Given the description of an element on the screen output the (x, y) to click on. 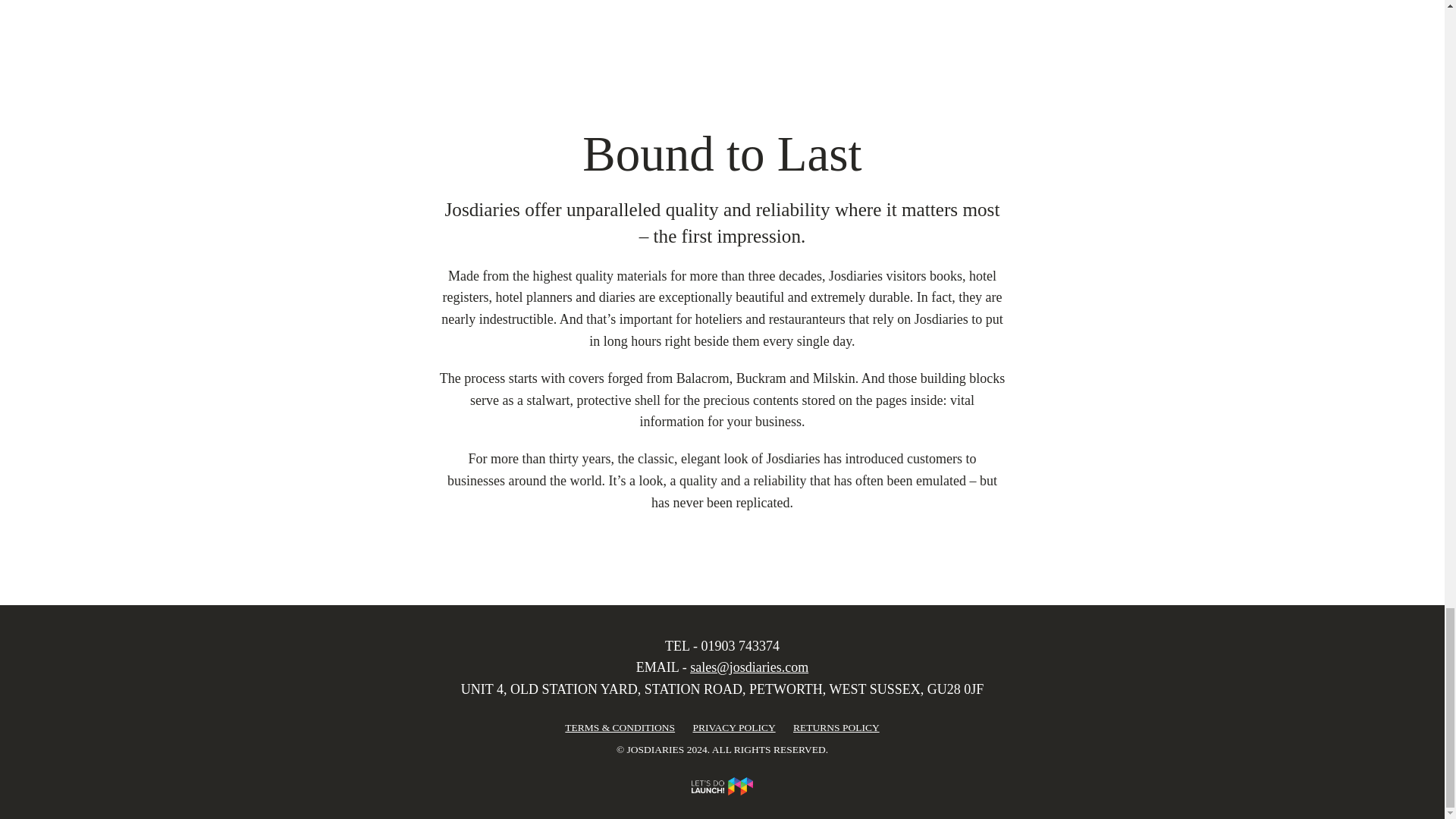
PRIVACY POLICY (733, 727)
RETURNS POLICY (836, 727)
WordPress Web Design - Metal Potato (722, 785)
